Given the description of an element on the screen output the (x, y) to click on. 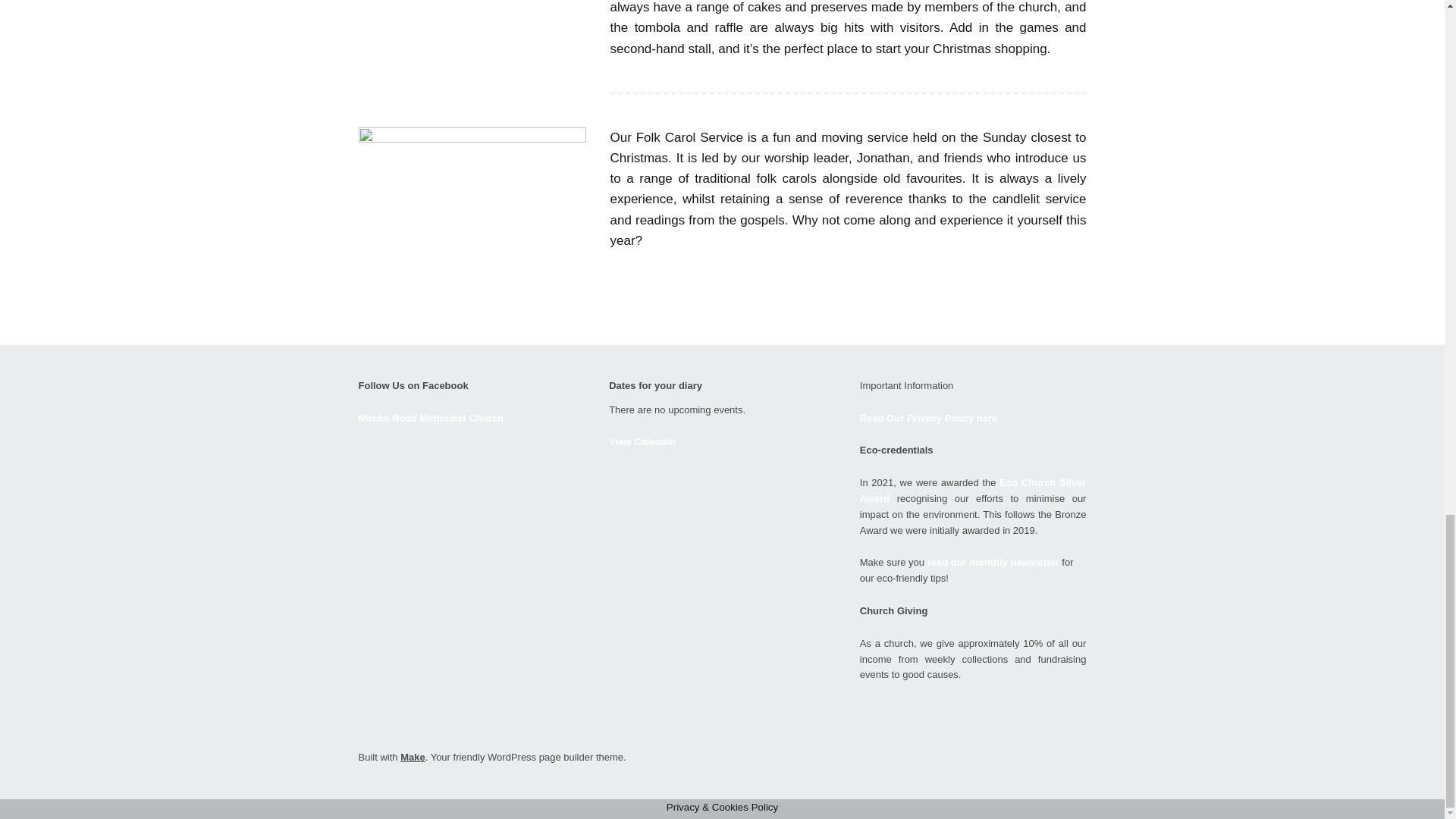
Eco Church Silver Award (973, 490)
read our monthly newsletter (993, 562)
Monks Road Methodist Church (430, 418)
View Calendar (642, 441)
Read Our Privacy Policy here (928, 418)
Make (412, 756)
